Given the description of an element on the screen output the (x, y) to click on. 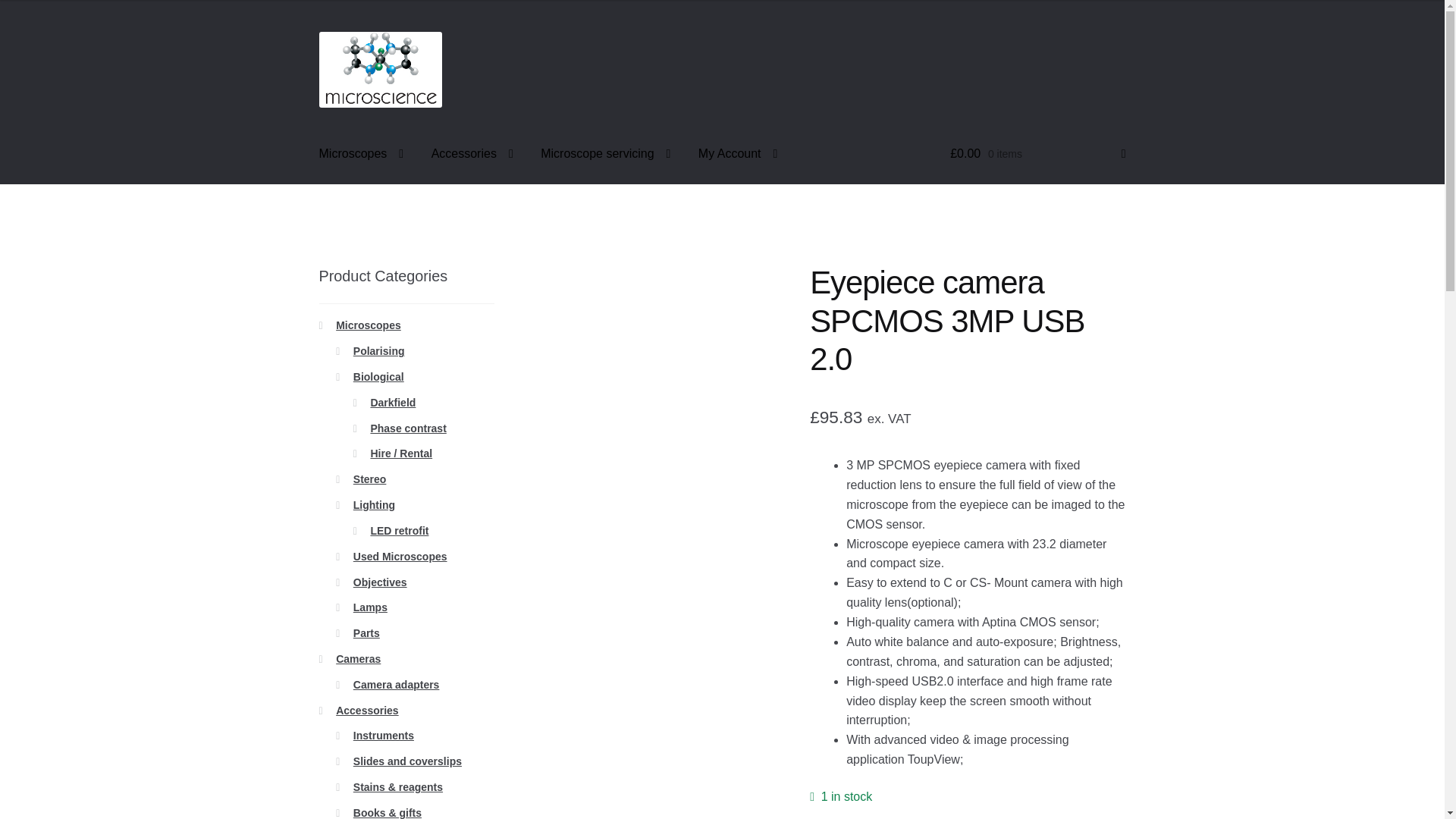
Accessories (472, 154)
View your shopping basket (1037, 154)
Microscopes (361, 154)
Microscope servicing (605, 154)
My Account (737, 154)
